Given the description of an element on the screen output the (x, y) to click on. 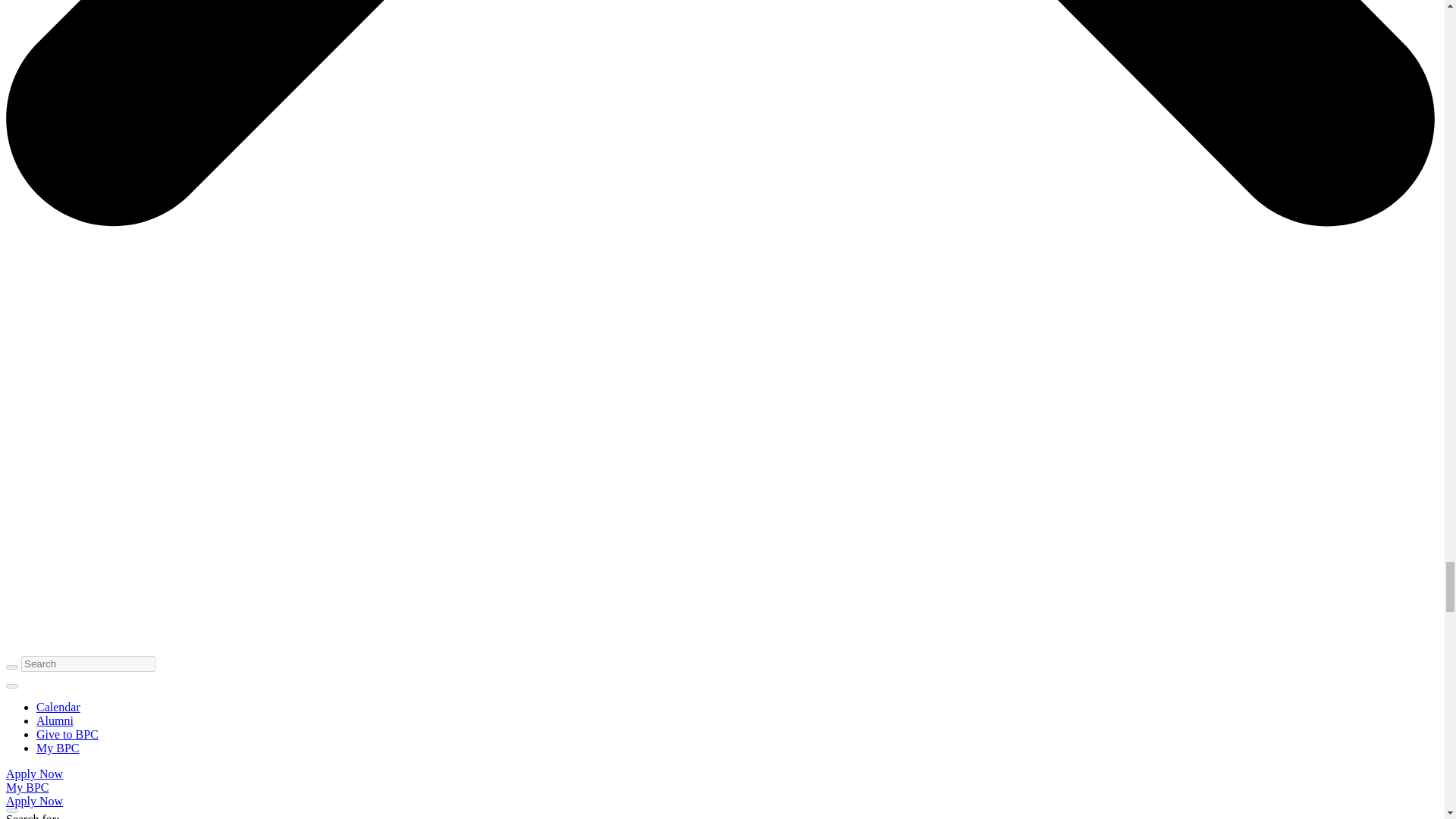
My BPC (26, 787)
Calendar (58, 707)
My BPC (57, 748)
Alumni (55, 720)
Apply Now (33, 773)
Apply Now (33, 800)
Give to BPC (67, 734)
